Given the description of an element on the screen output the (x, y) to click on. 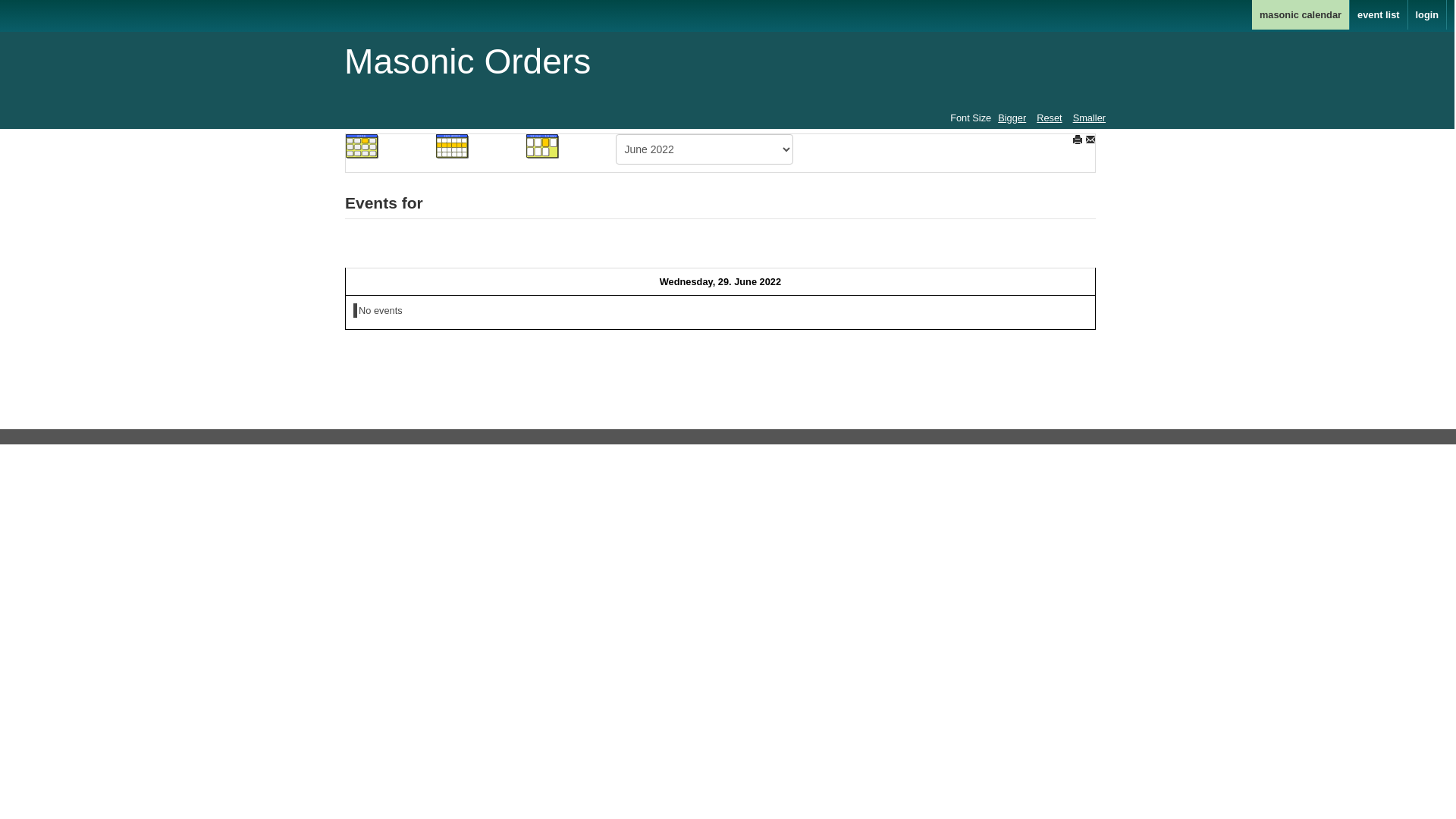
By Week Element type: hover (452, 145)
Bigger Element type: text (1011, 117)
event list Element type: text (1378, 14)
login Element type: text (1427, 14)
EMAIL Element type: hover (1090, 138)
Today Element type: hover (542, 145)
Smaller Element type: text (1089, 117)
By Month Element type: hover (362, 145)
Print Element type: hover (1077, 138)
Reset Element type: text (1048, 117)
masonic calendar Element type: text (1300, 14)
